Given the description of an element on the screen output the (x, y) to click on. 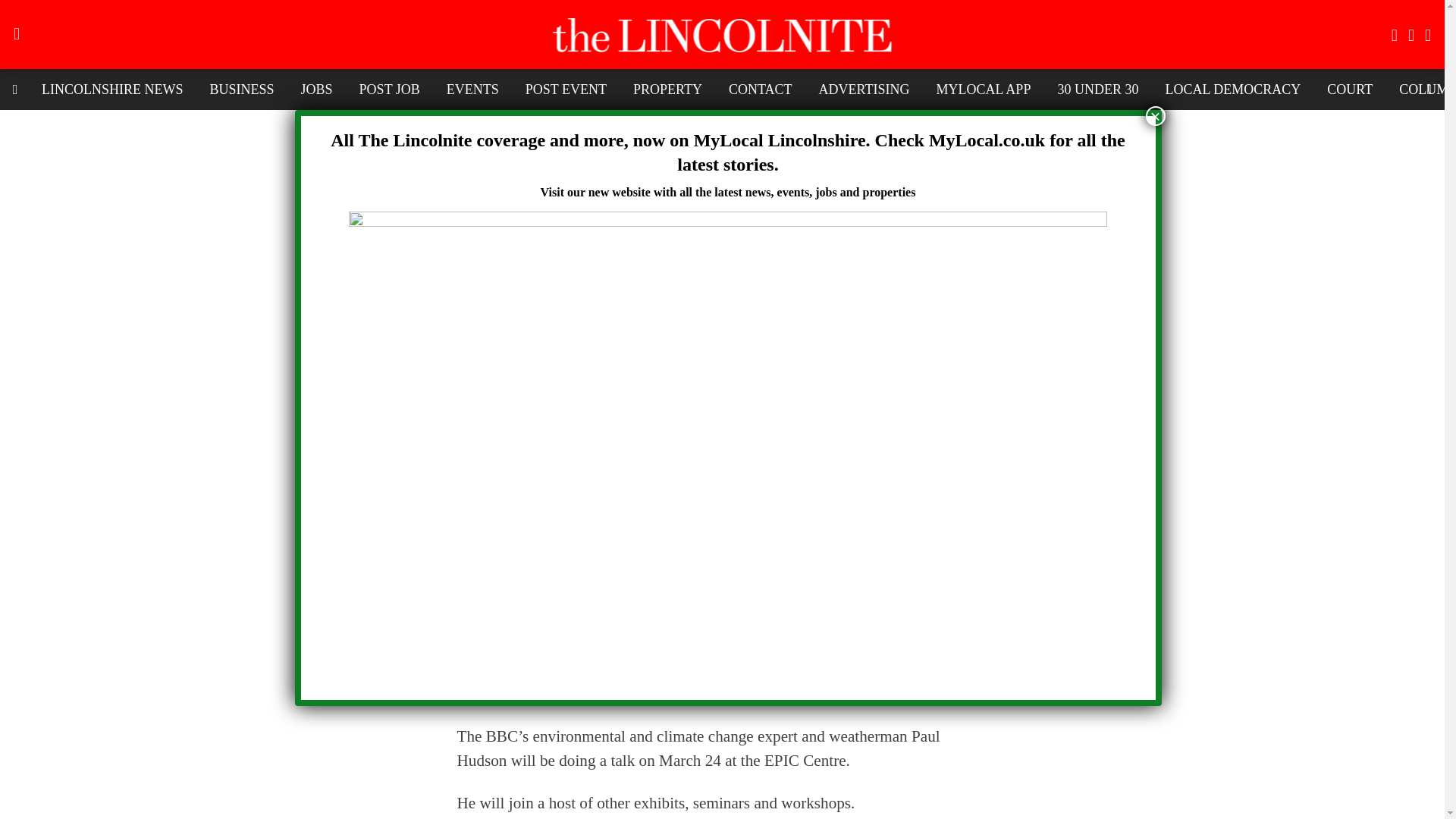
ADVERTISING (864, 88)
Contact author (718, 365)
POST EVENT (565, 88)
JOBS (316, 88)
EVENTS (473, 88)
30 UNDER 30 (1097, 88)
BUSINESS (241, 88)
MYLOCAL APP (983, 88)
LINCOLNSHIRE NEWS (112, 88)
